Given the description of an element on the screen output the (x, y) to click on. 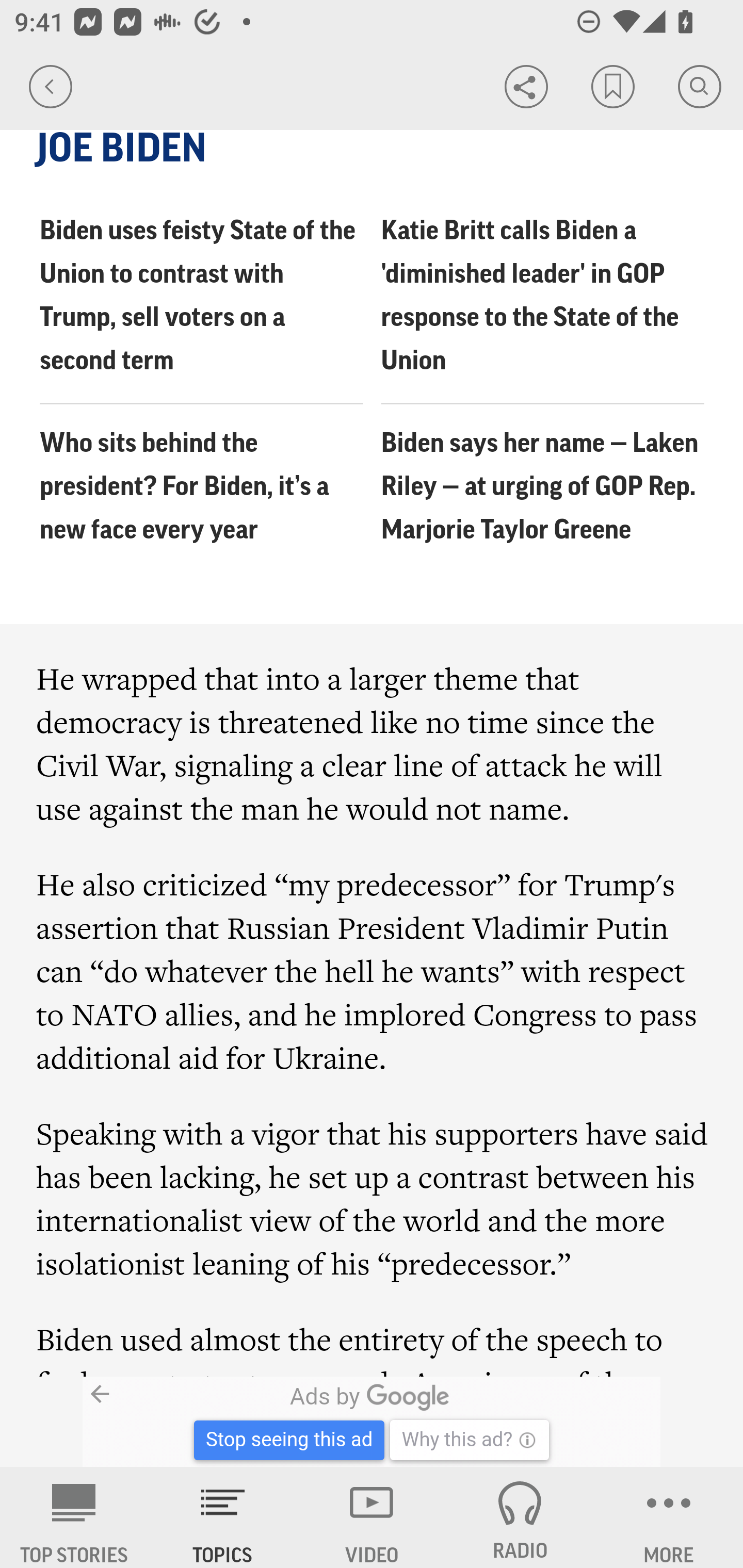
JOE BIDEN (372, 148)
AP News TOP STORIES (74, 1517)
TOPICS (222, 1517)
VIDEO (371, 1517)
RADIO (519, 1517)
MORE (668, 1517)
